Given the description of an element on the screen output the (x, y) to click on. 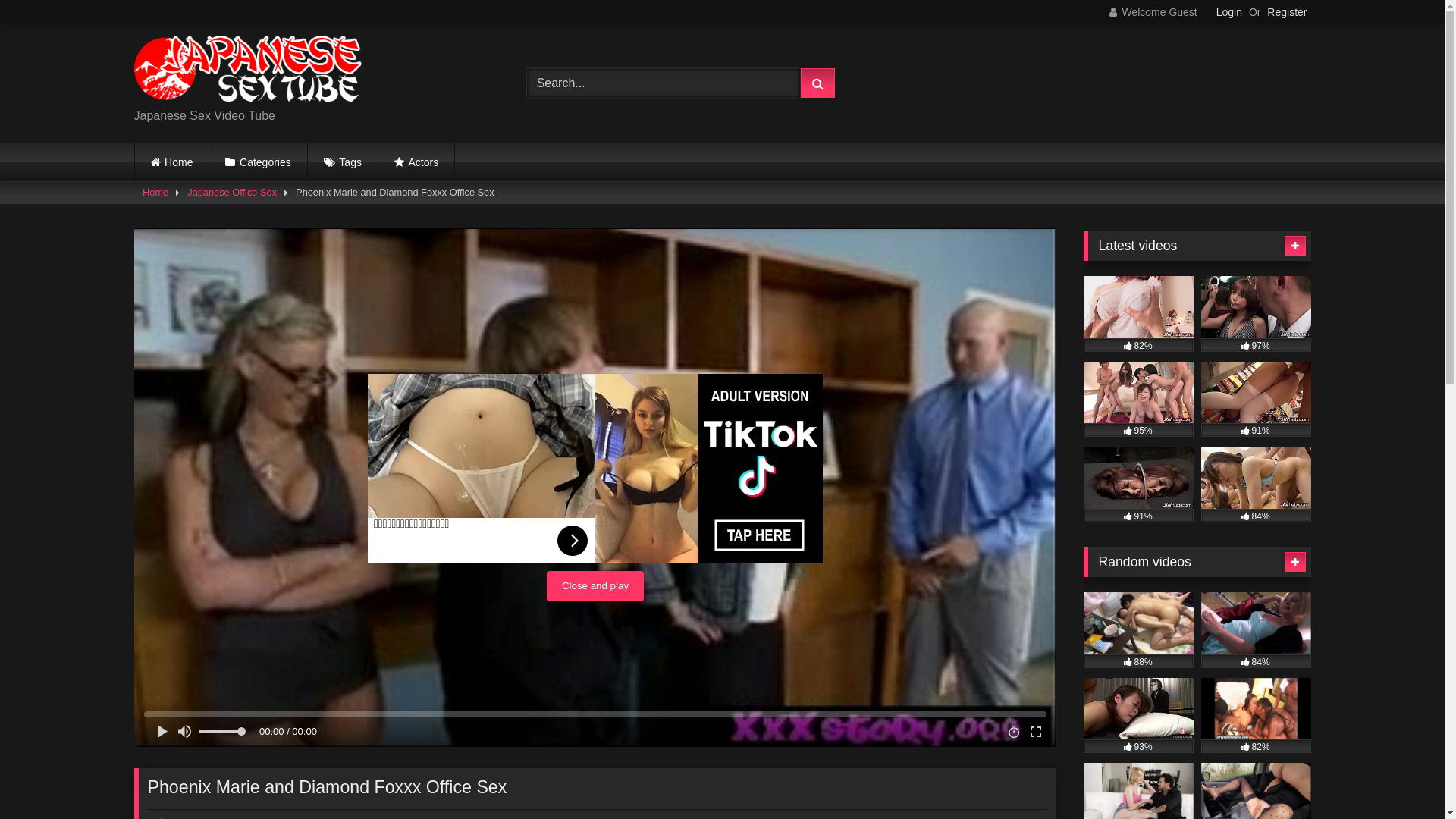
Home Element type: text (155, 192)
Login Element type: text (1229, 12)
Home Element type: text (171, 162)
Japanese Office Sex Element type: text (231, 192)
97% Element type: text (1256, 313)
Register Element type: text (1286, 12)
84% Element type: text (1256, 630)
93% Element type: text (1137, 715)
Actors Element type: text (416, 162)
1 SexTube Element type: hover (246, 71)
91% Element type: text (1256, 399)
84% Element type: text (1256, 484)
82% Element type: text (1137, 313)
88% Element type: text (1137, 630)
95% Element type: text (1137, 399)
82% Element type: text (1256, 715)
Categories Element type: text (257, 162)
91% Element type: text (1137, 484)
Tags Element type: text (342, 162)
